Given the description of an element on the screen output the (x, y) to click on. 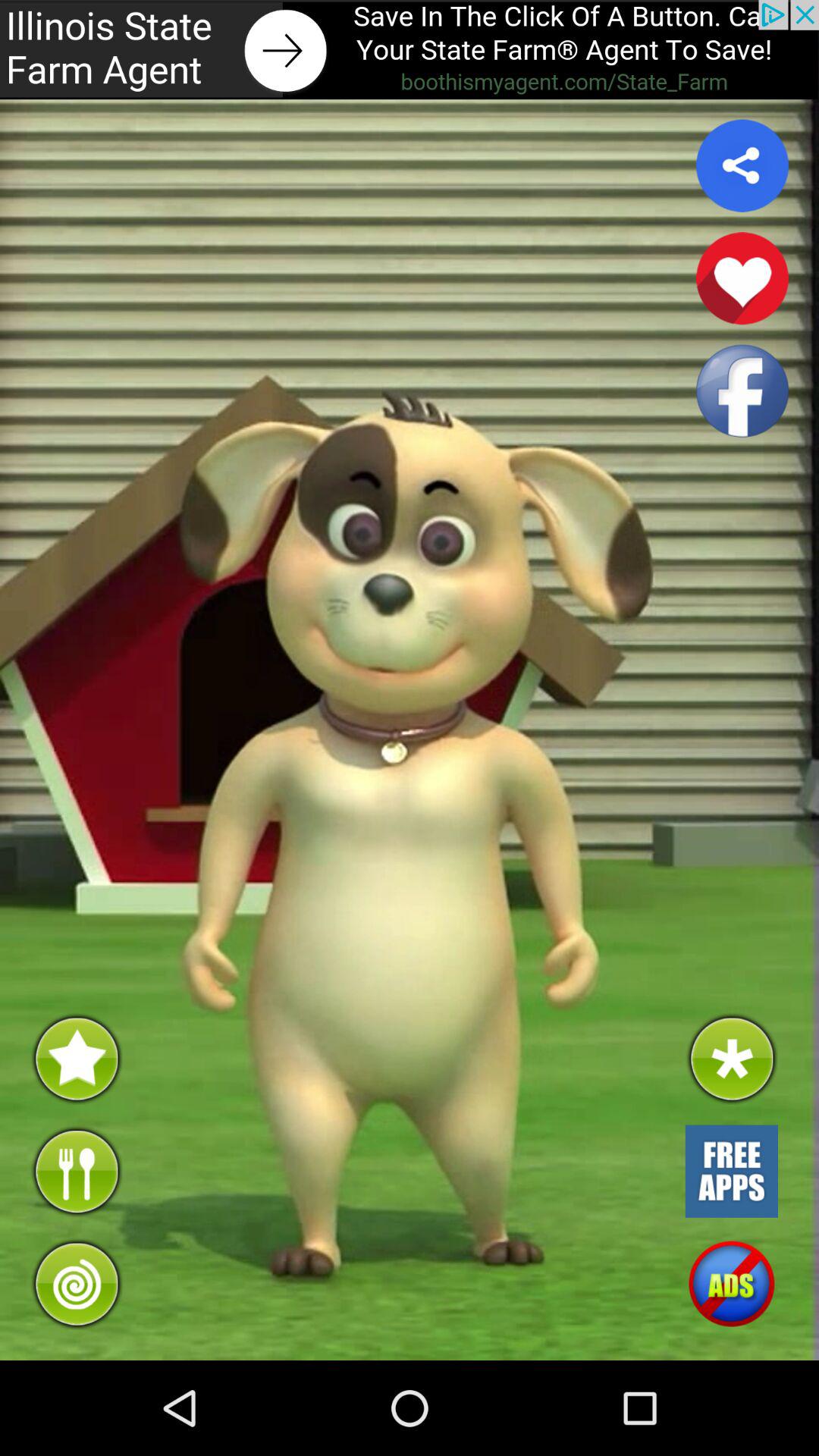
open free apps (731, 1170)
